Given the description of an element on the screen output the (x, y) to click on. 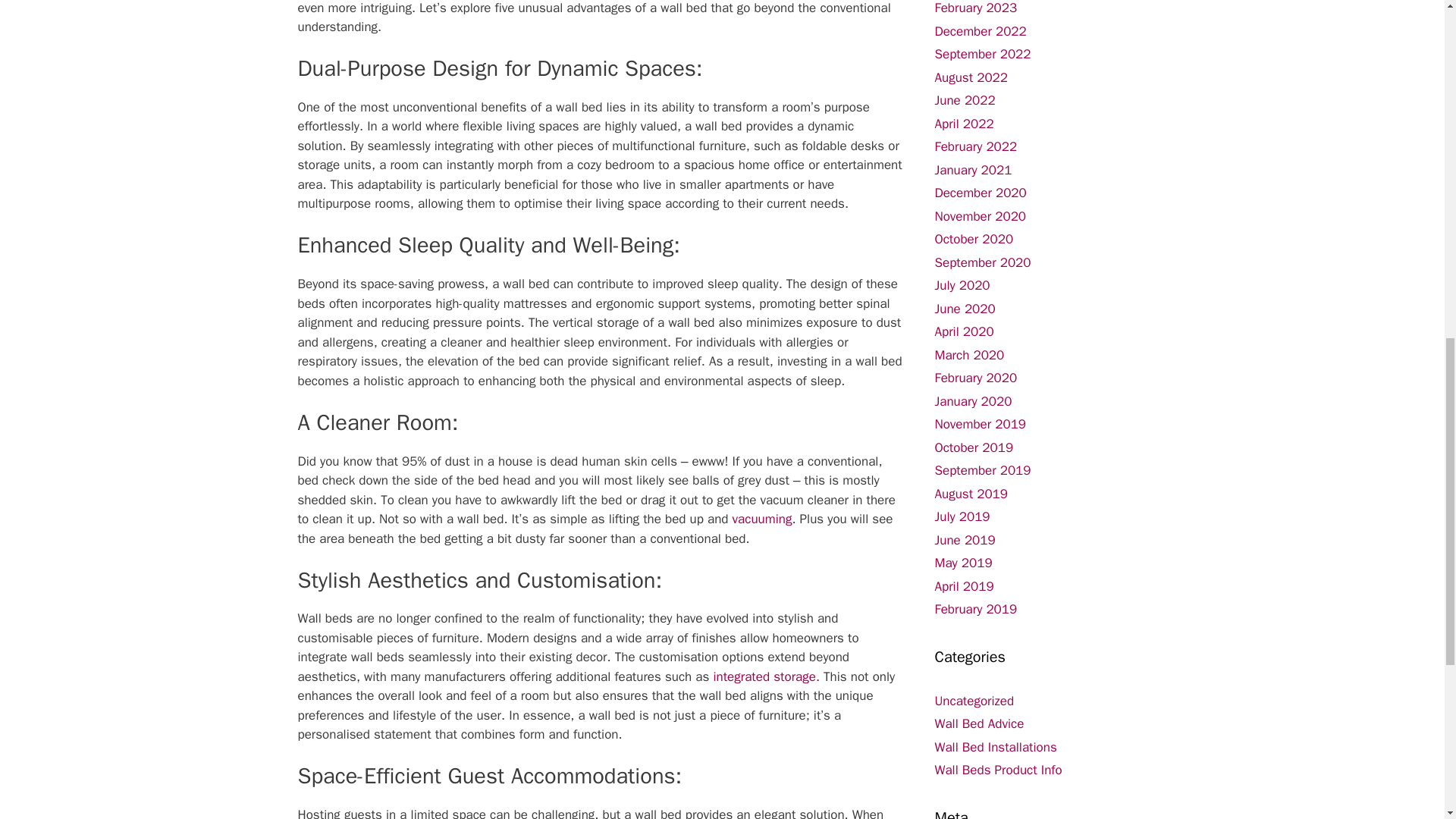
December 2022 (980, 30)
September 2022 (982, 53)
vacuuming (762, 519)
integrated storage. (764, 676)
February 2023 (975, 7)
